Given the description of an element on the screen output the (x, y) to click on. 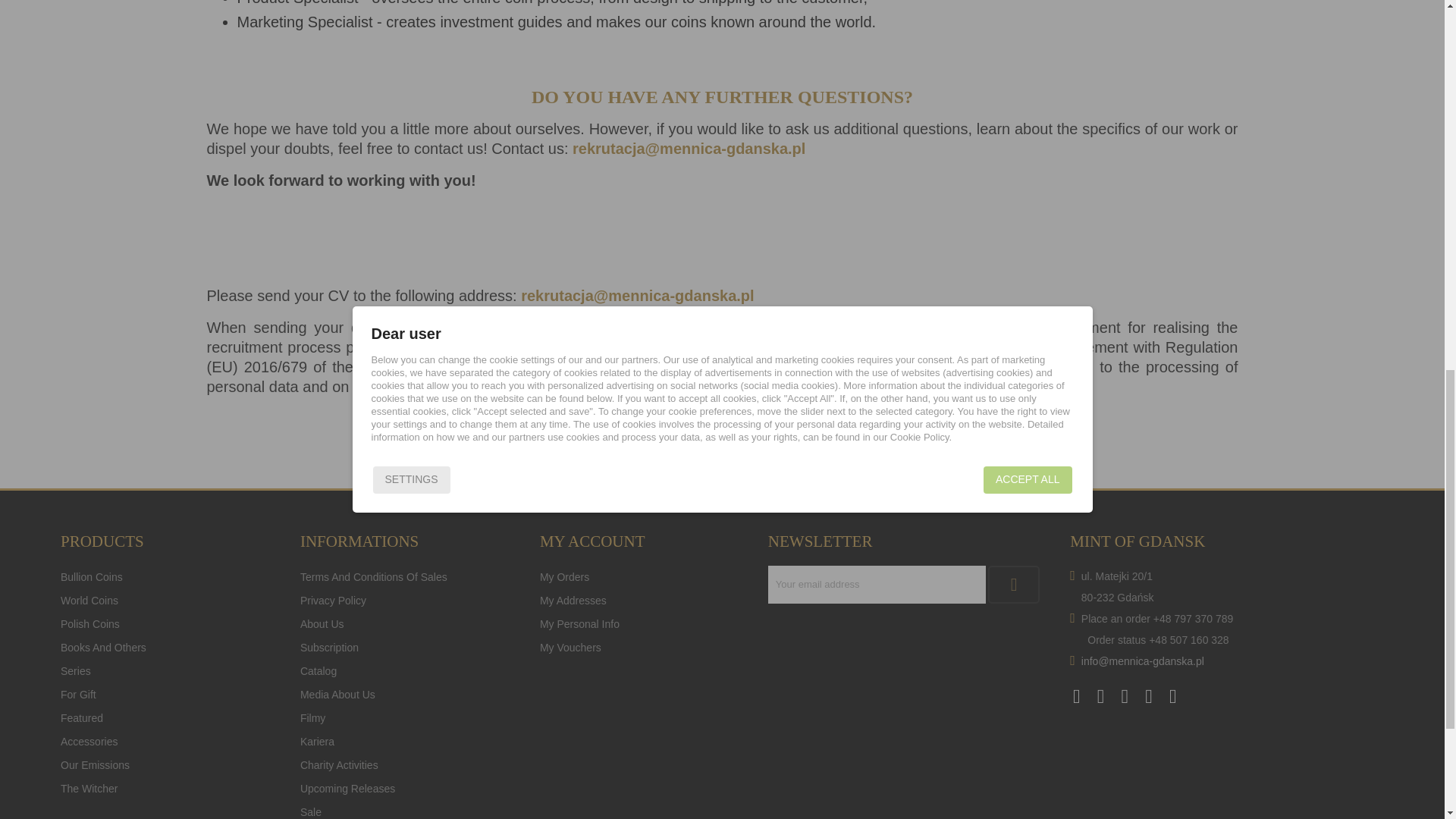
Bullion Coins (91, 576)
World Coins (89, 599)
Polish Coins (90, 623)
Series (75, 671)
Privacy Policy (332, 599)
For Gift (78, 694)
About Us (321, 623)
Terms And Conditions Of Sales (372, 576)
Our Emissions (95, 764)
Featured (82, 717)
Books And Others (104, 647)
The Witcher (89, 788)
Subscription (328, 647)
Catalog (317, 671)
Accessories (89, 741)
